Given the description of an element on the screen output the (x, y) to click on. 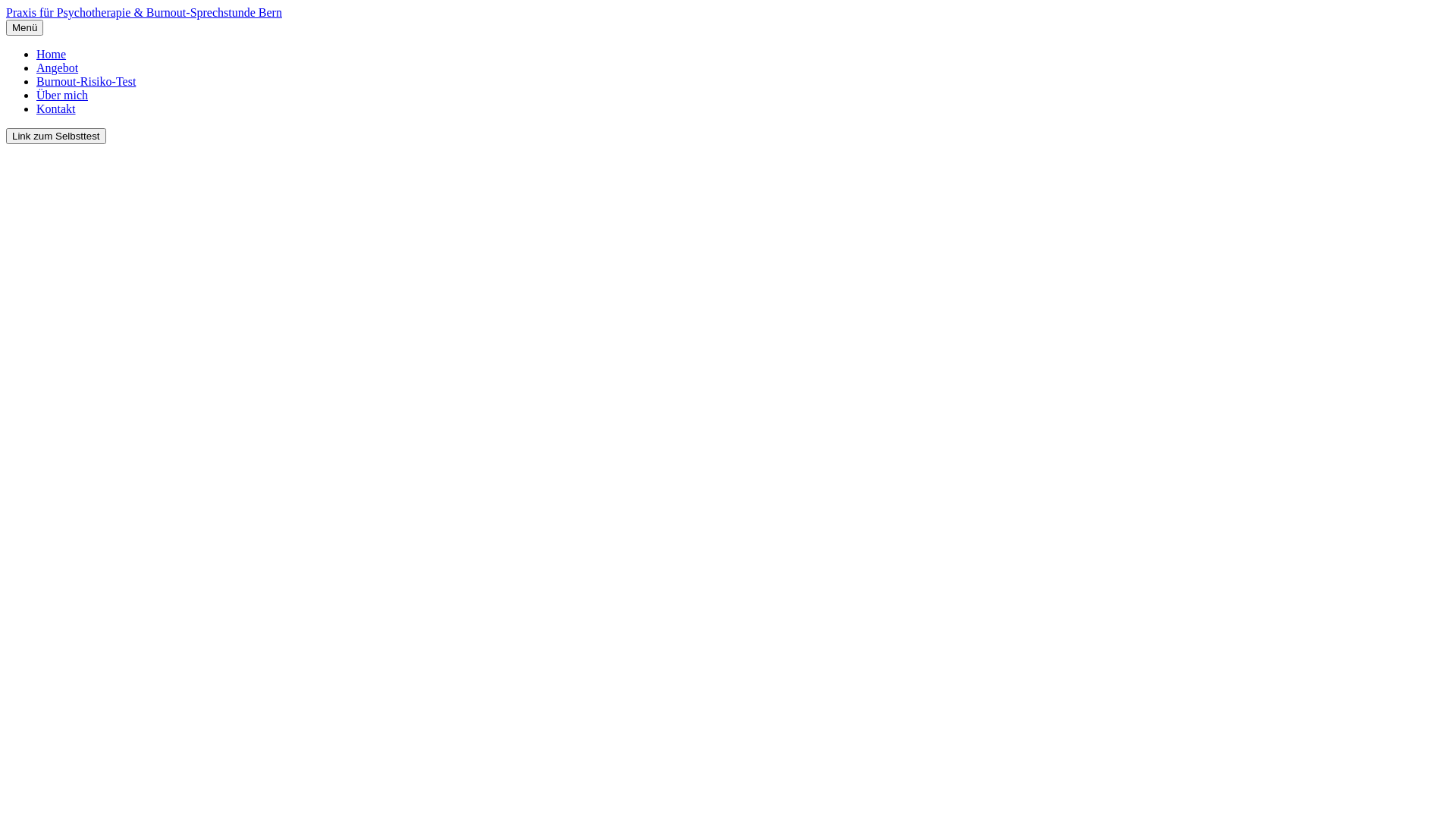
Link zum Selbsttest Element type: text (56, 136)
Kontakt Element type: text (55, 108)
Burnout-Risiko-Test Element type: text (85, 81)
Home Element type: text (50, 53)
Angebot Element type: text (57, 67)
